Given the description of an element on the screen output the (x, y) to click on. 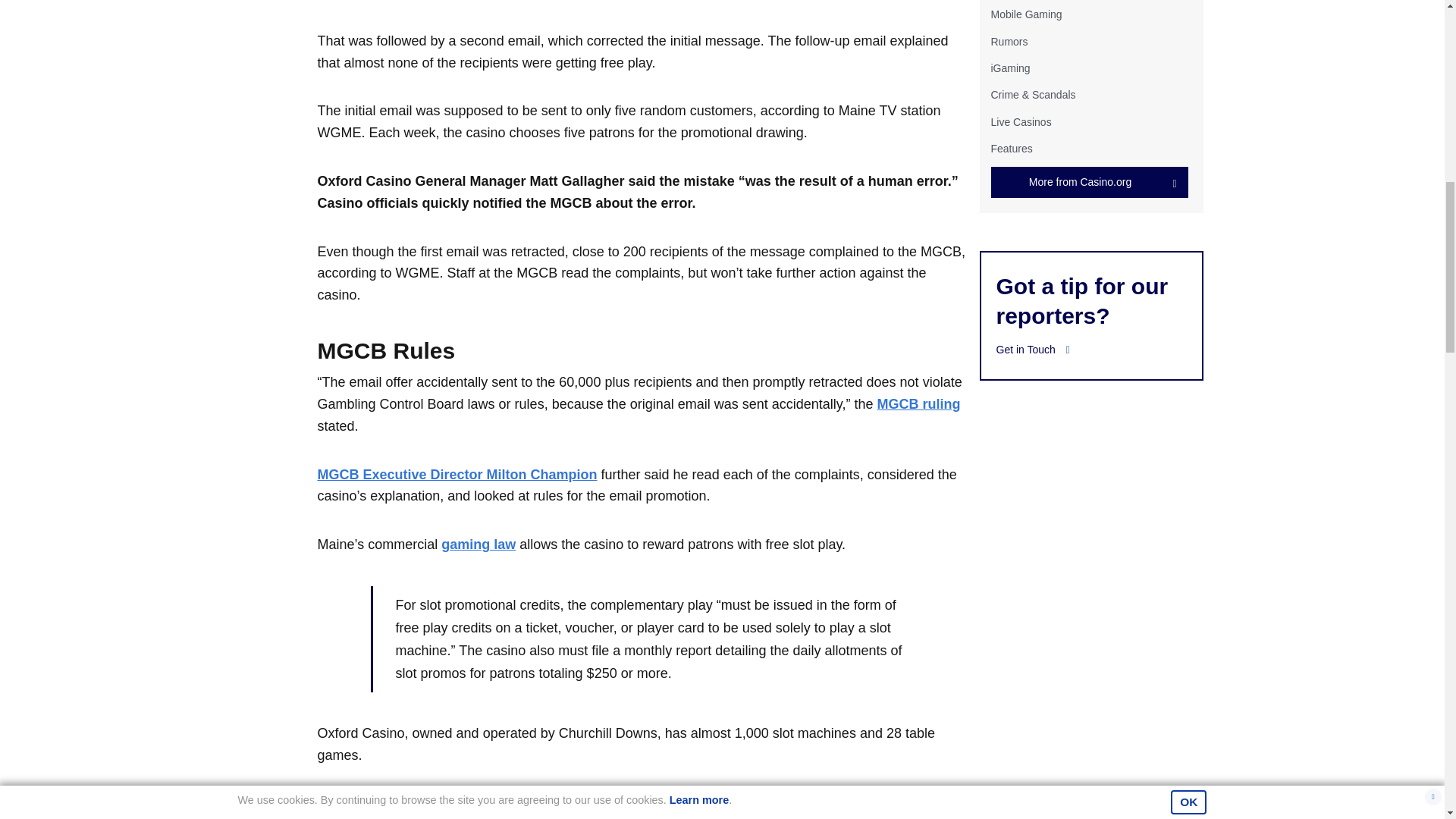
MGCB ruling (918, 403)
Mobile Gaming (1025, 14)
MGCB Executive Director Milton Champion (456, 474)
Rumors (1008, 41)
Live Casinos (1020, 121)
iGaming (1009, 68)
Features (1011, 148)
gaming law (478, 544)
